Given the description of an element on the screen output the (x, y) to click on. 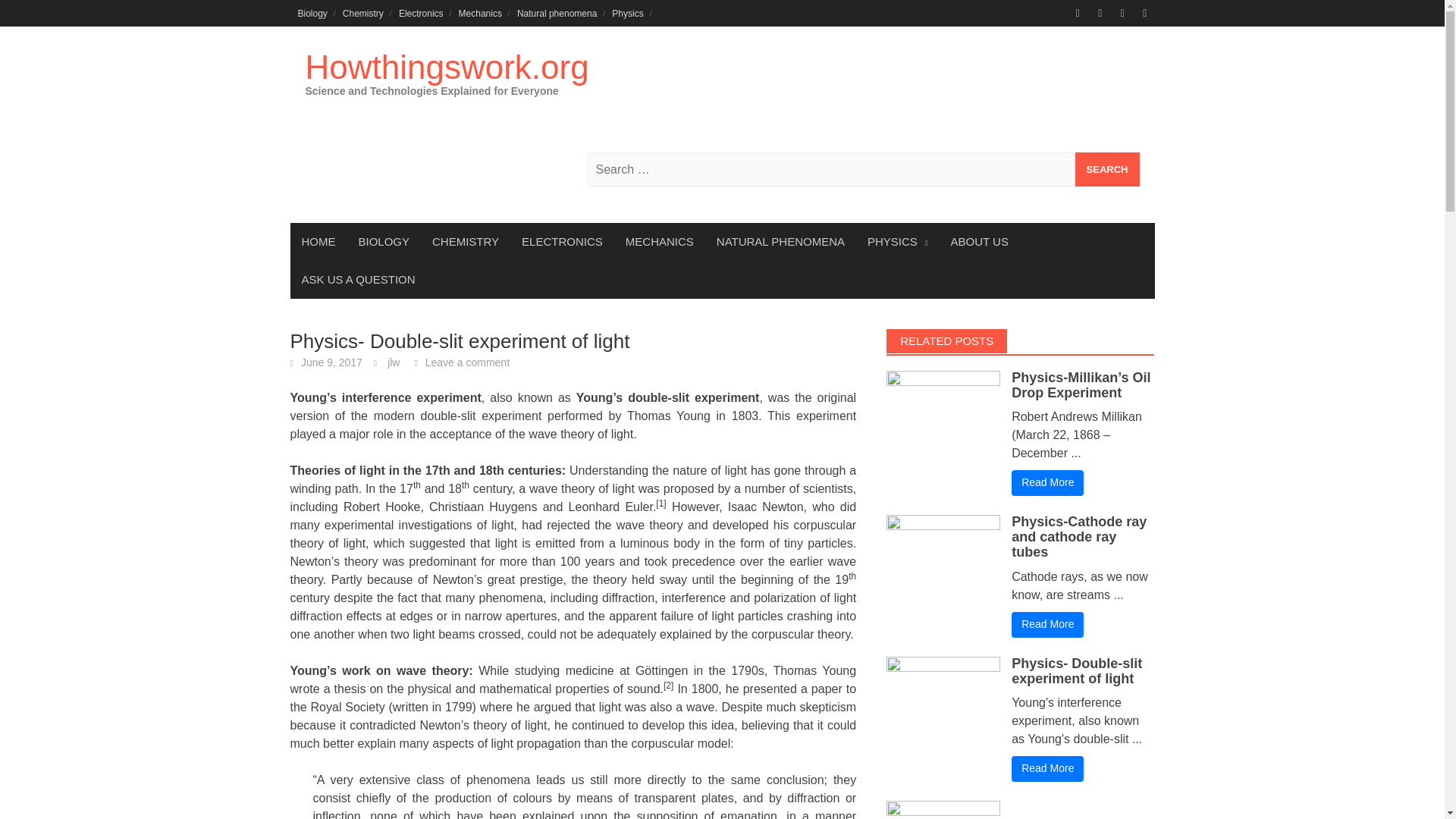
June 9, 2017 (331, 362)
ABOUT US (979, 241)
Leave a comment (467, 362)
ASK US A QUESTION (357, 279)
Electronics (421, 13)
PHYSICS (897, 241)
HOME (317, 241)
Chemistry (362, 13)
Search (1107, 169)
Find us on Youtube (1144, 13)
Find us on Twitter (1099, 13)
Search (1107, 169)
Howthingswork.org (446, 66)
Mechanics (480, 13)
MECHANICS (659, 241)
